Given the description of an element on the screen output the (x, y) to click on. 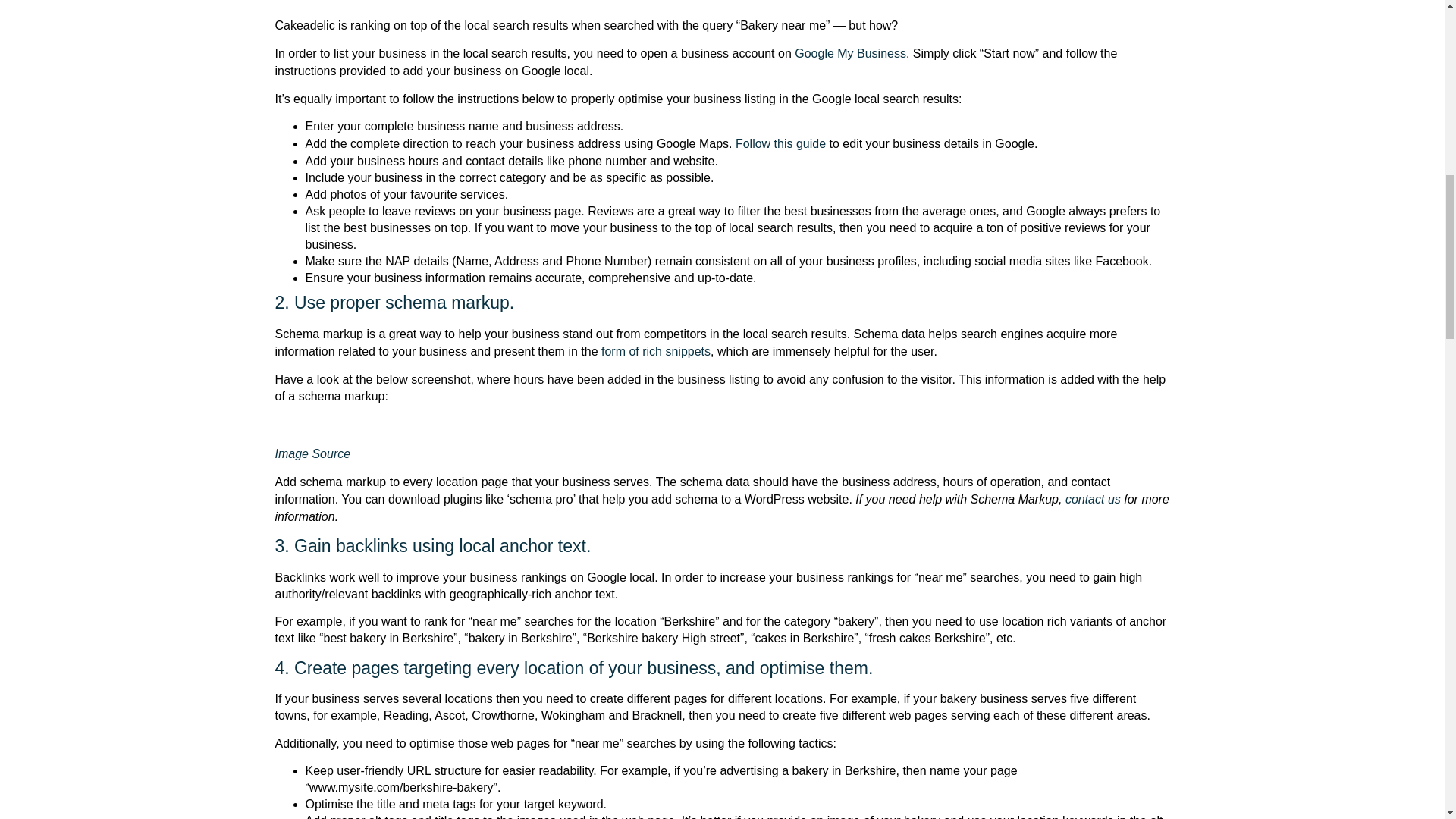
form of rich snippets (655, 350)
Image Source (312, 453)
Google My Business (849, 52)
contact us (1093, 499)
Follow this guide (780, 143)
